Given the description of an element on the screen output the (x, y) to click on. 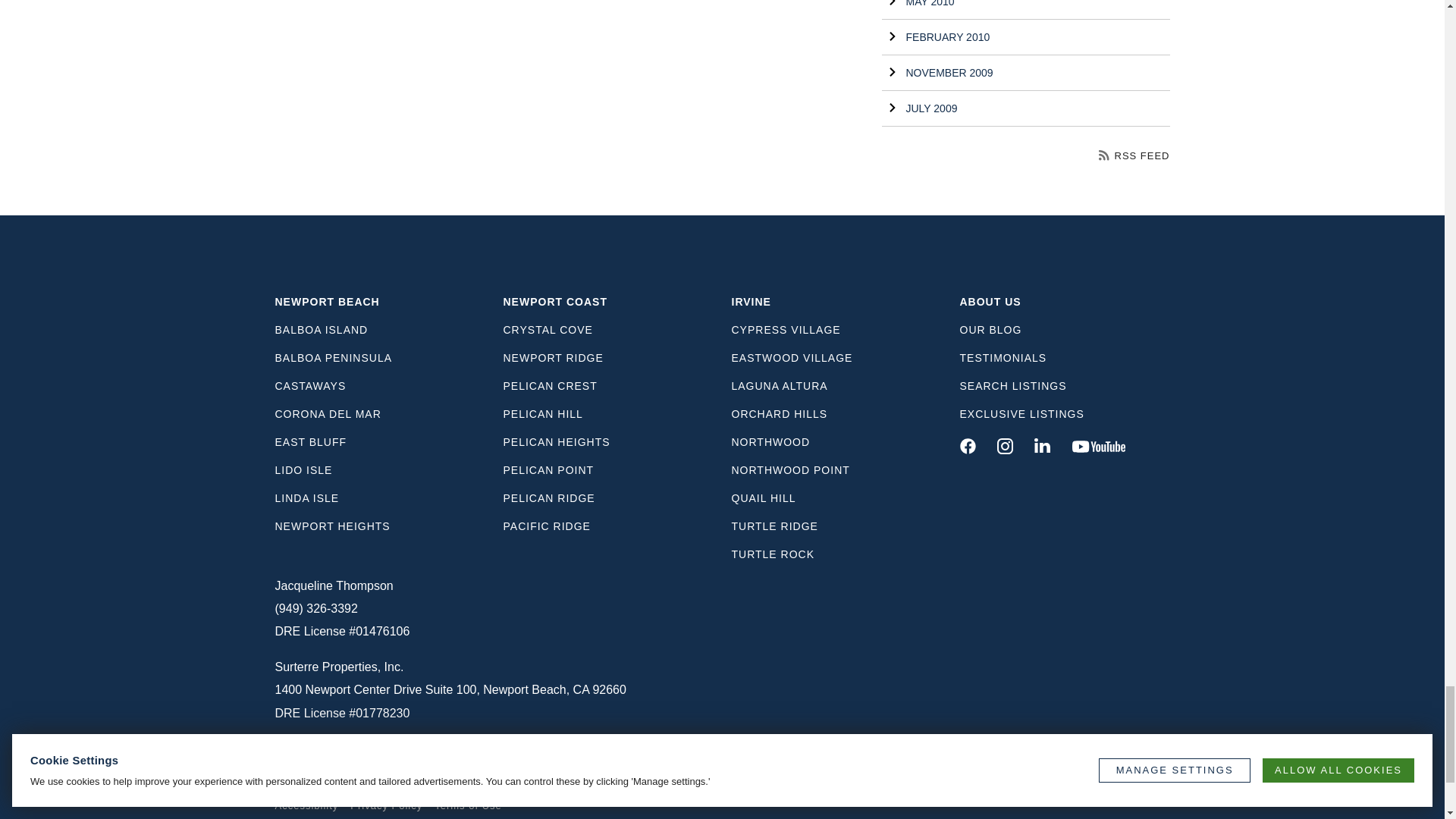
RSS FEED (1134, 155)
